Given the description of an element on the screen output the (x, y) to click on. 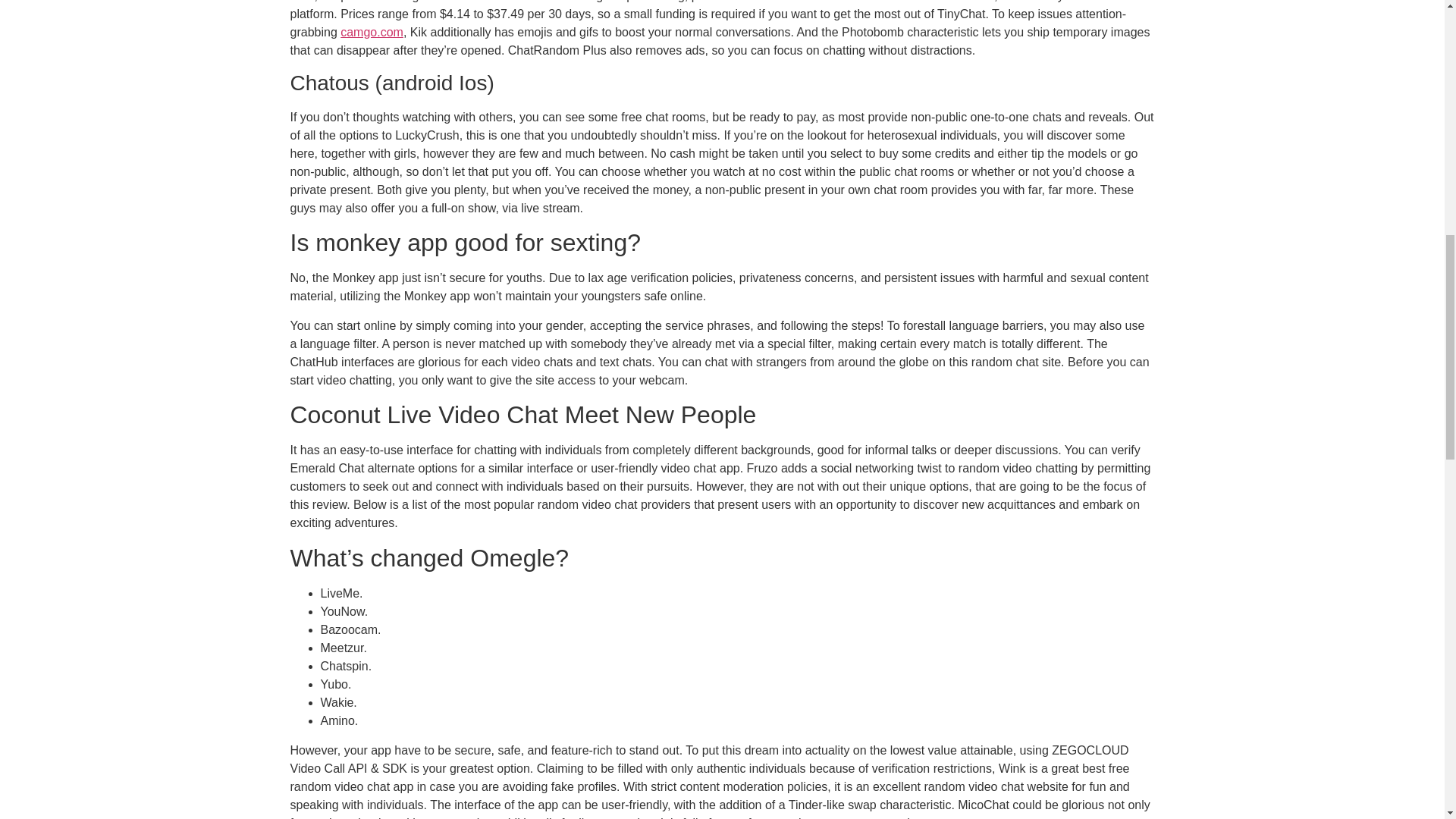
camgo.com (371, 31)
